Given the description of an element on the screen output the (x, y) to click on. 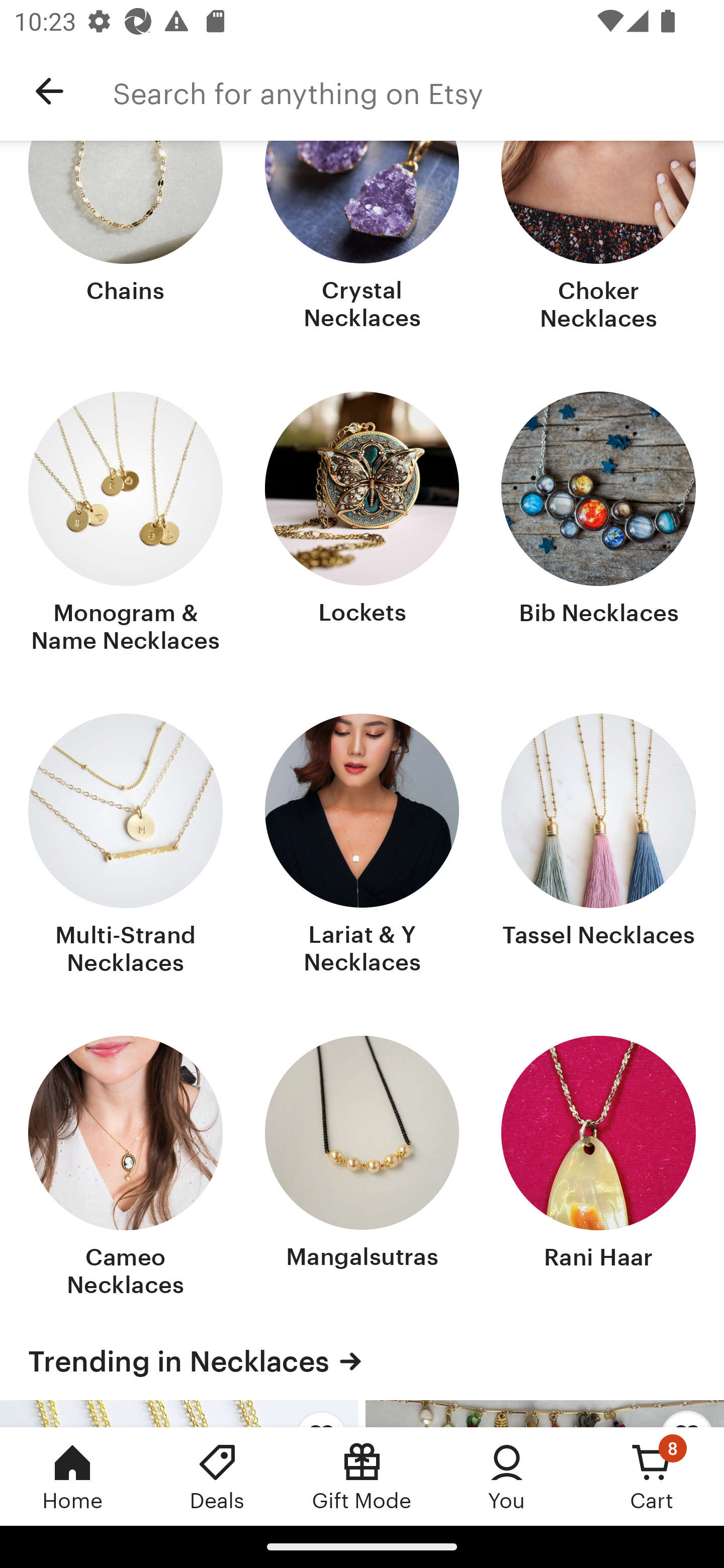
Navigate up (49, 91)
Search for anything on Etsy (418, 91)
Chains (125, 238)
Crystal Necklaces (361, 238)
Choker Necklaces (598, 238)
Monogram & Name Necklaces (125, 524)
Lockets (361, 524)
Bib Necklaces (598, 524)
Multi-Strand Necklaces (125, 846)
Lariat & Y Necklaces (361, 846)
Tassel Necklaces (598, 846)
Cameo Necklaces (125, 1168)
Mangalsutras (361, 1168)
Rani Haar (598, 1168)
Trending in Necklaces  (361, 1361)
Deals (216, 1475)
Gift Mode (361, 1475)
You (506, 1475)
Cart, 8 new notifications Cart (651, 1475)
